Given the description of an element on the screen output the (x, y) to click on. 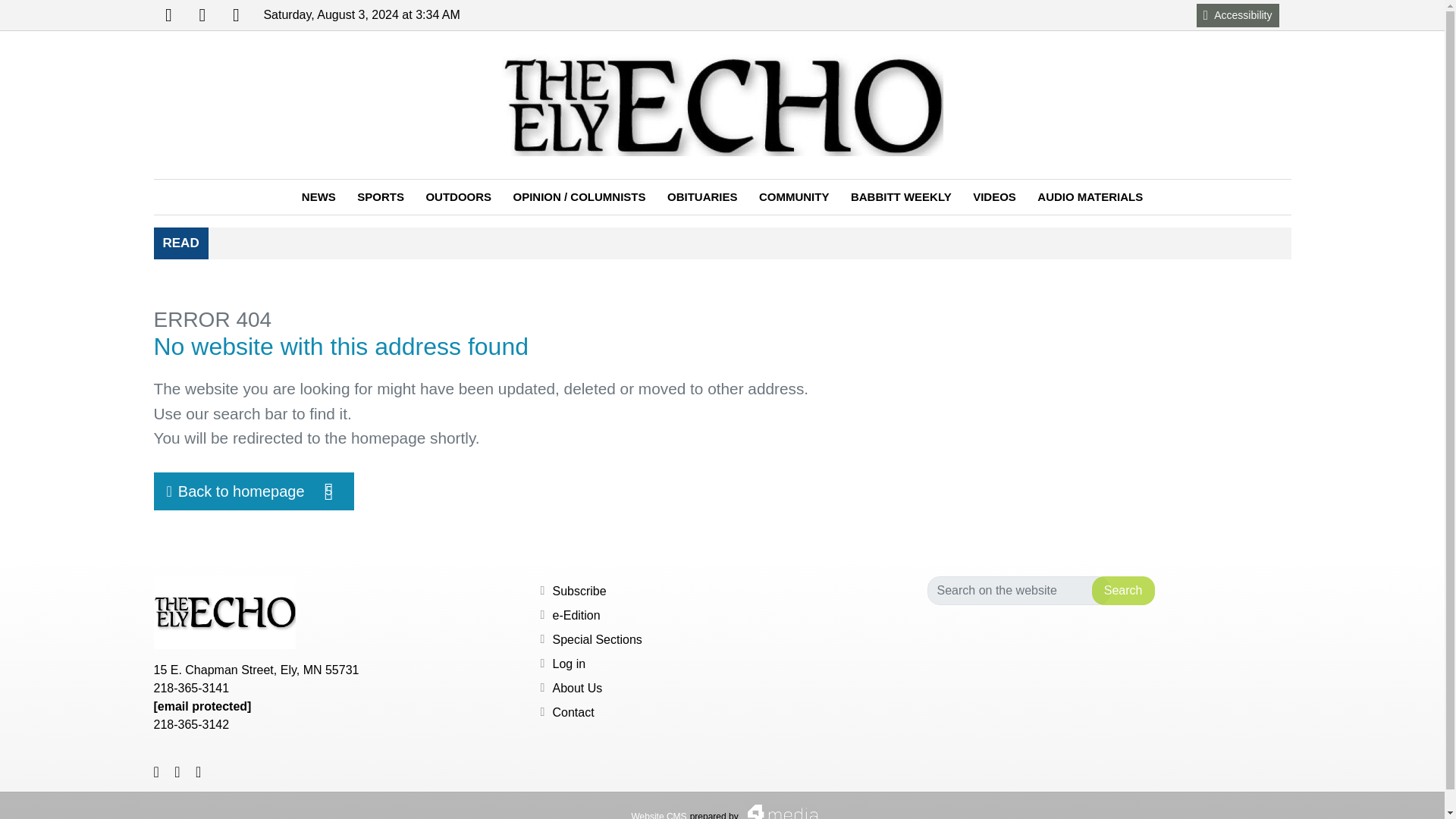
Go to Facebook.com (167, 15)
COMMUNITY (793, 197)
Subscribe (578, 590)
Special Sections (252, 491)
e-Edition (596, 639)
X.com (575, 615)
Youtube.com (201, 15)
BABBITT WEEKLY (235, 15)
Search (900, 197)
About Us (1123, 590)
Accessibility (576, 687)
VIDEOS (1237, 14)
Facebook.com (994, 197)
AUDIO MATERIALS (167, 15)
